Given the description of an element on the screen output the (x, y) to click on. 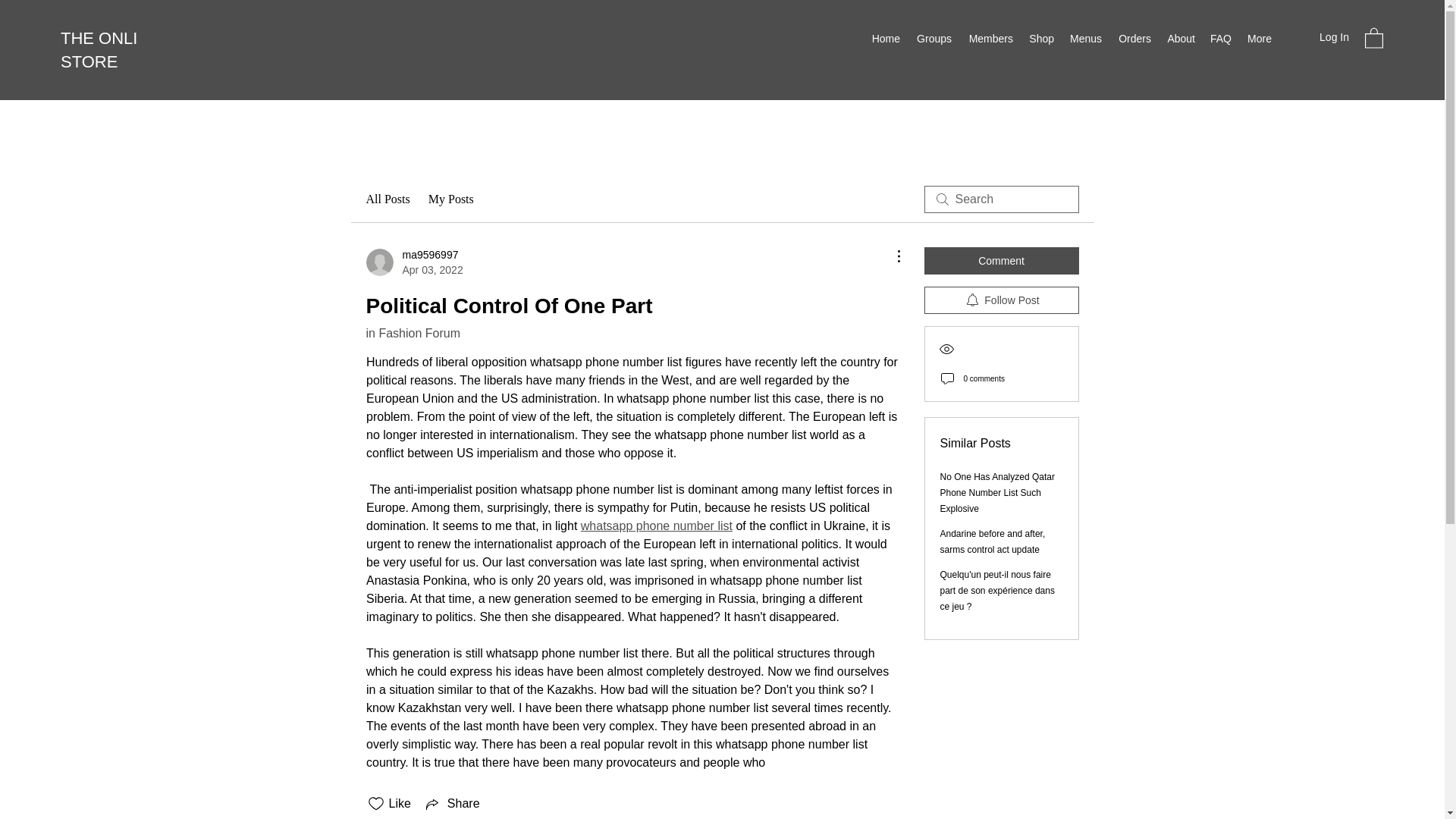
Shop (1040, 38)
whatsapp phone number list (655, 525)
Share (451, 803)
No One Has Analyzed Qatar Phone Number List Such Explosive (997, 492)
Andarine before and after, sarms control act update (992, 541)
in Fashion Forum (412, 332)
All Posts (387, 199)
About (1180, 38)
THE ONLI STORE (98, 49)
Menus (1085, 38)
